Given the description of an element on the screen output the (x, y) to click on. 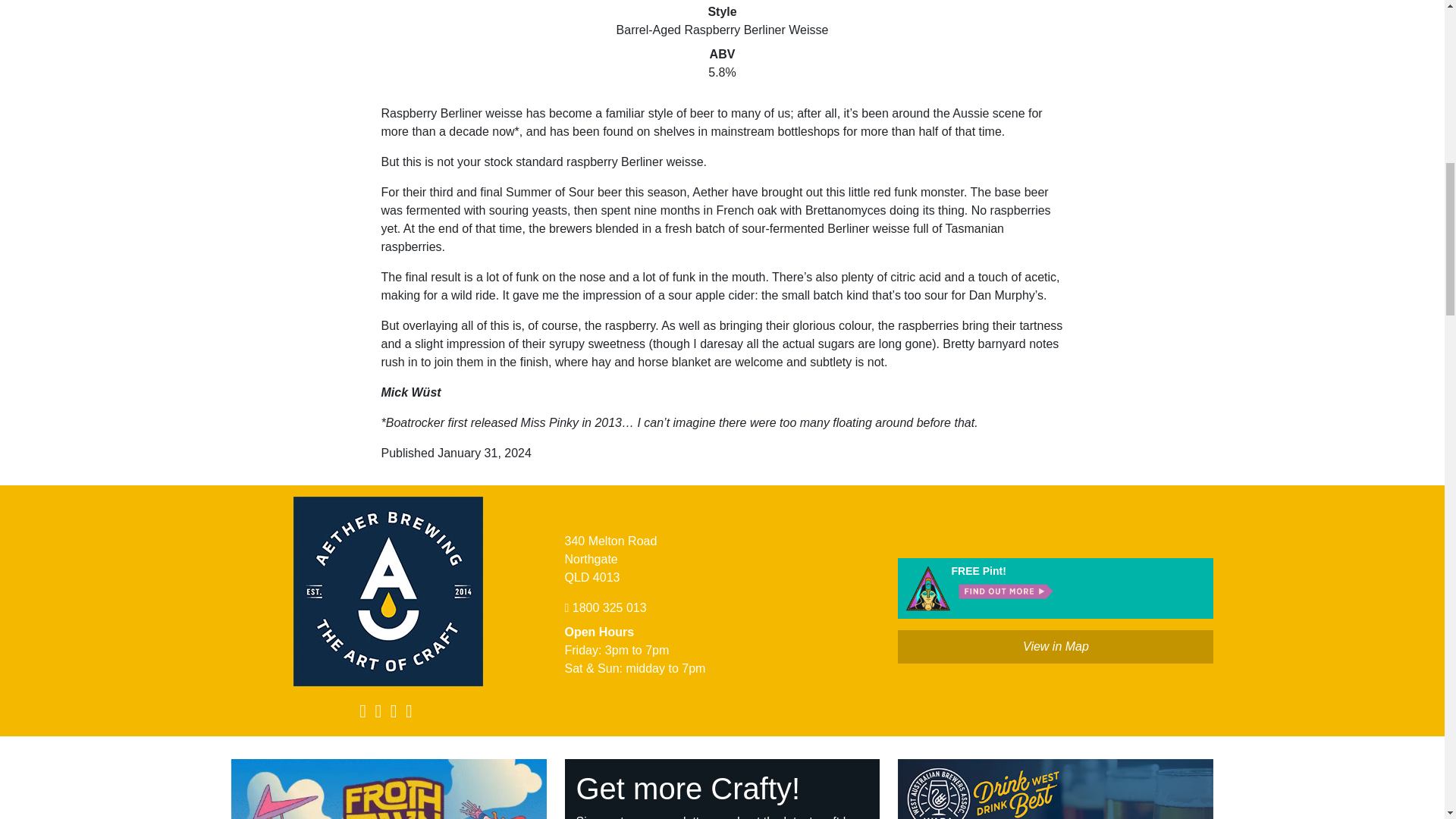
Froth Town 2024 B 2 (389, 789)
